Given the description of an element on the screen output the (x, y) to click on. 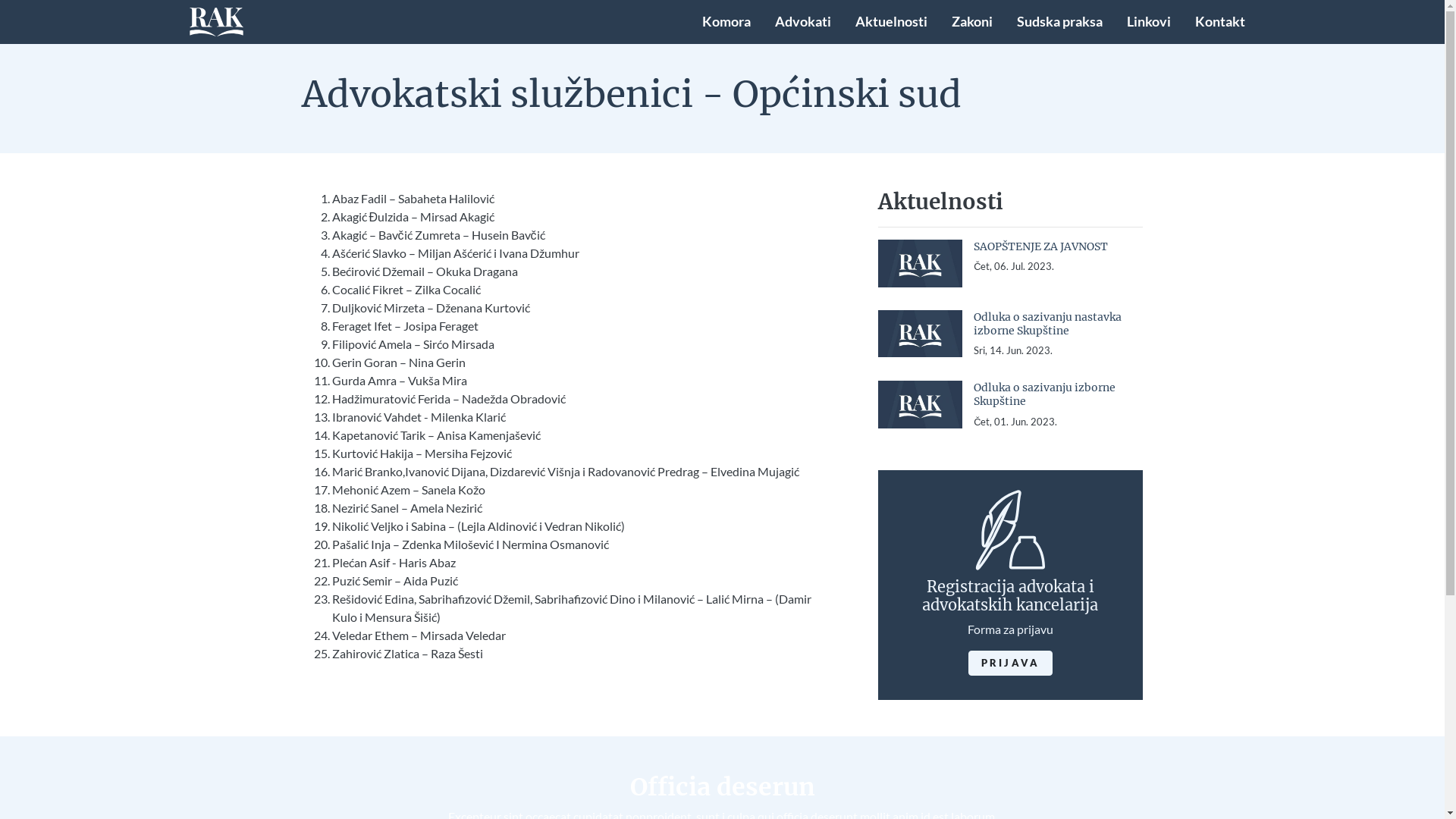
Sudska praksa Element type: text (1058, 21)
Zakoni Element type: text (971, 21)
PRIJAVA Element type: text (1010, 662)
Linkovi Element type: text (1148, 21)
Advokati Element type: text (802, 21)
Aktuelnosti Element type: text (891, 21)
Kontakt Element type: text (1220, 21)
Komora Element type: text (726, 21)
